Given the description of an element on the screen output the (x, y) to click on. 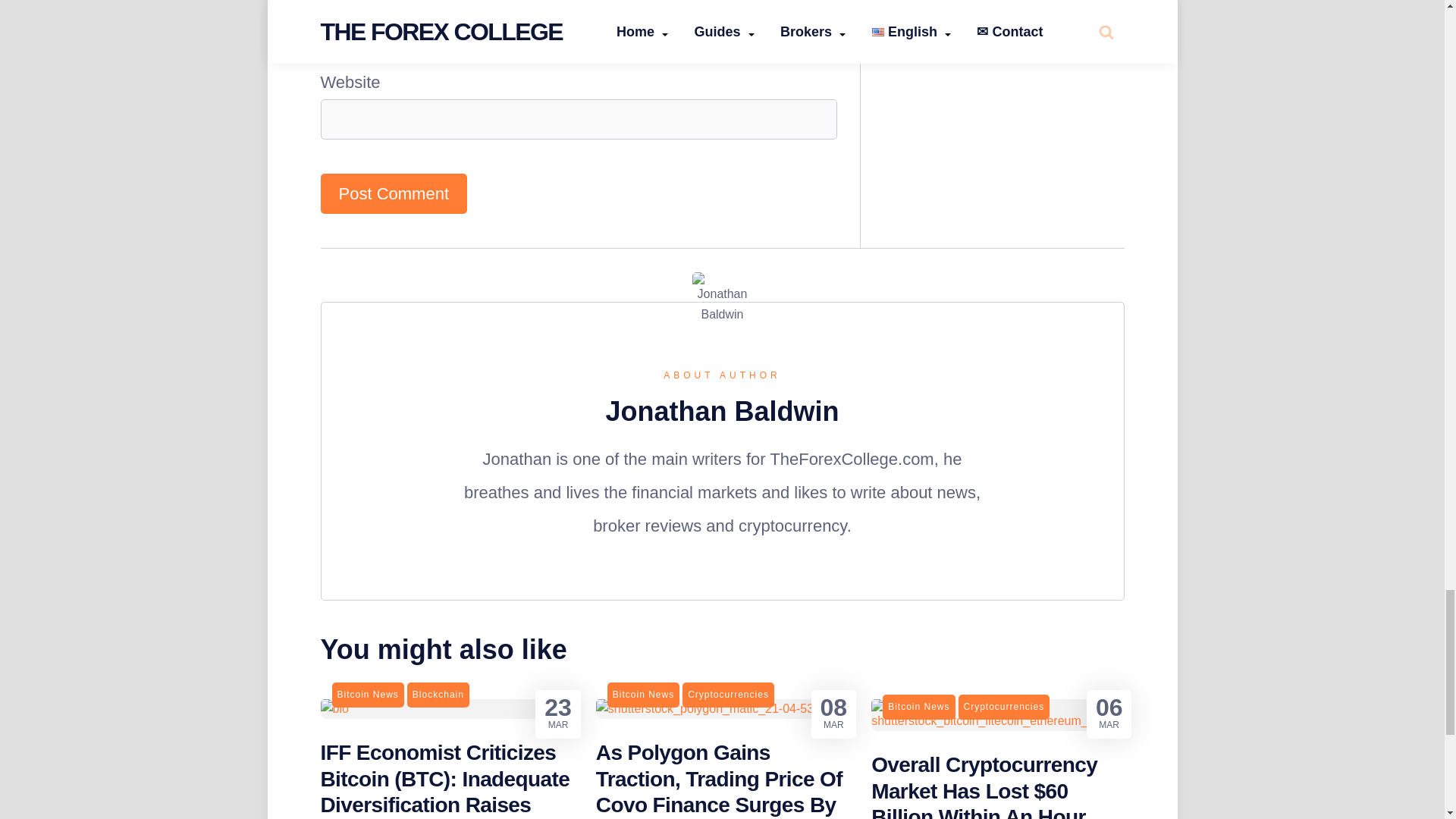
Post Comment (393, 193)
